Given the description of an element on the screen output the (x, y) to click on. 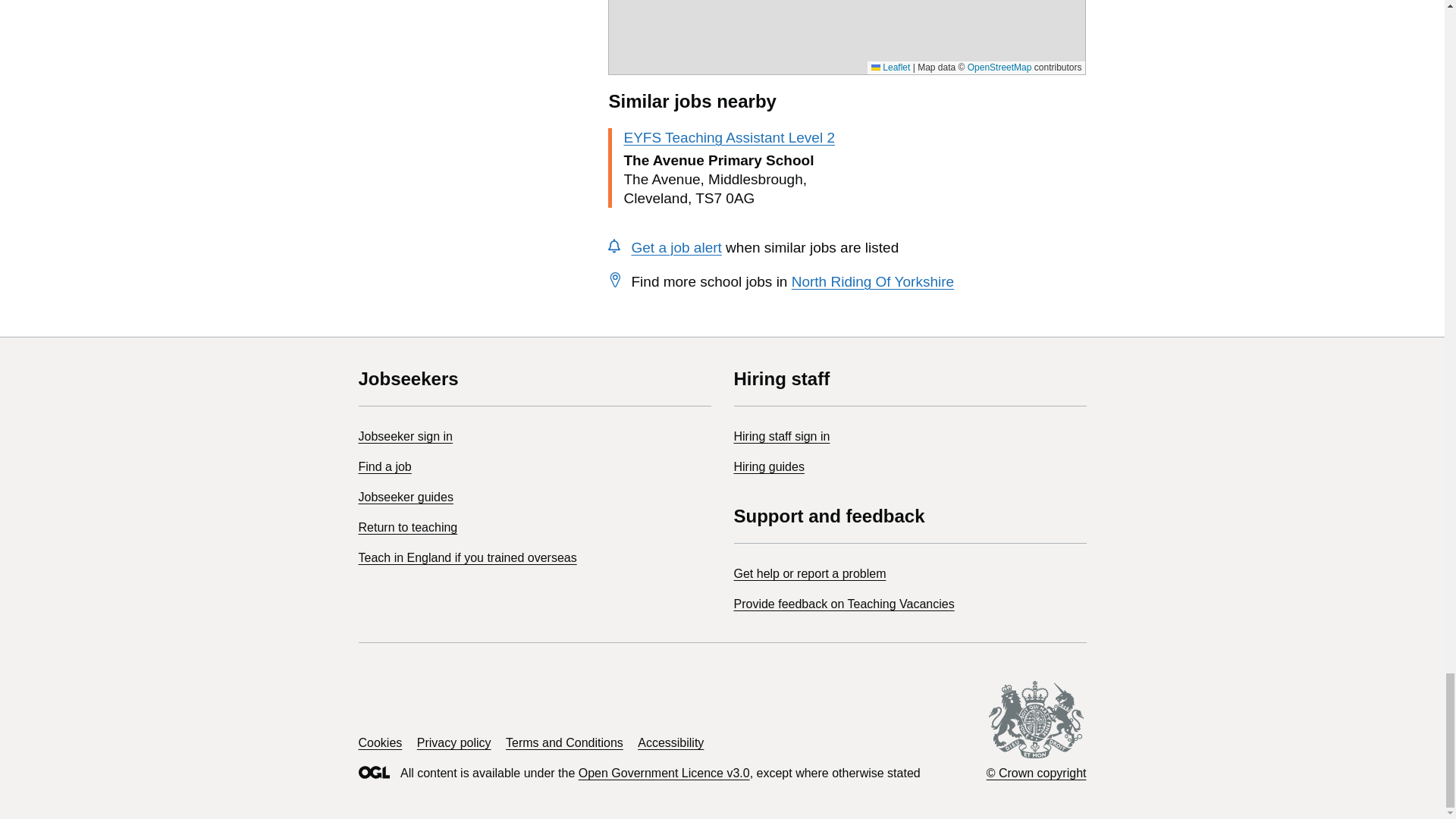
EYFS Teaching Assistant Level 2 (728, 137)
North Riding Of Yorkshire (872, 281)
Get a job alert (675, 247)
Jobseeker guides (405, 496)
Return to teaching (407, 526)
Leaflet (890, 67)
A JavaScript library for interactive maps (890, 67)
Find a job (384, 466)
Hiring staff sign in (781, 436)
Get help or report a problem (809, 573)
Teach in England if you trained overseas (467, 557)
Hiring guides (769, 466)
Jobseeker sign in (405, 436)
OpenStreetMap (1000, 67)
